Given the description of an element on the screen output the (x, y) to click on. 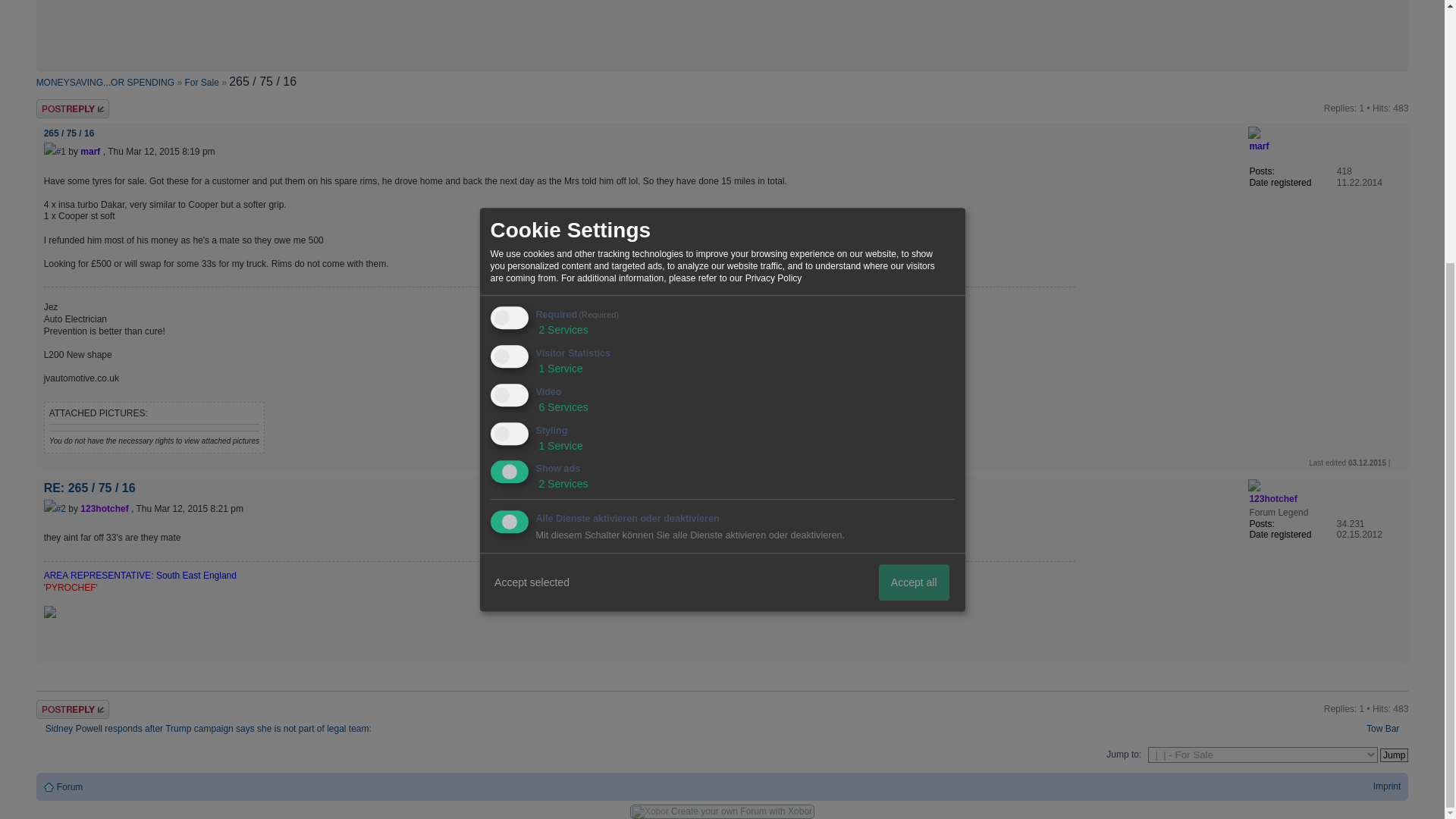
marf (90, 151)
Forum (69, 787)
6 Services (561, 28)
Top (1395, 655)
reply (82, 108)
Tow Bar (1387, 728)
123hotchef (1273, 498)
reply (82, 108)
Jump (1393, 755)
For Sale (201, 81)
reply (82, 709)
123hotchef (104, 508)
Create your own Forum with Xobor (741, 810)
MONEYSAVING...OR SPENDING (105, 81)
